Given the description of an element on the screen output the (x, y) to click on. 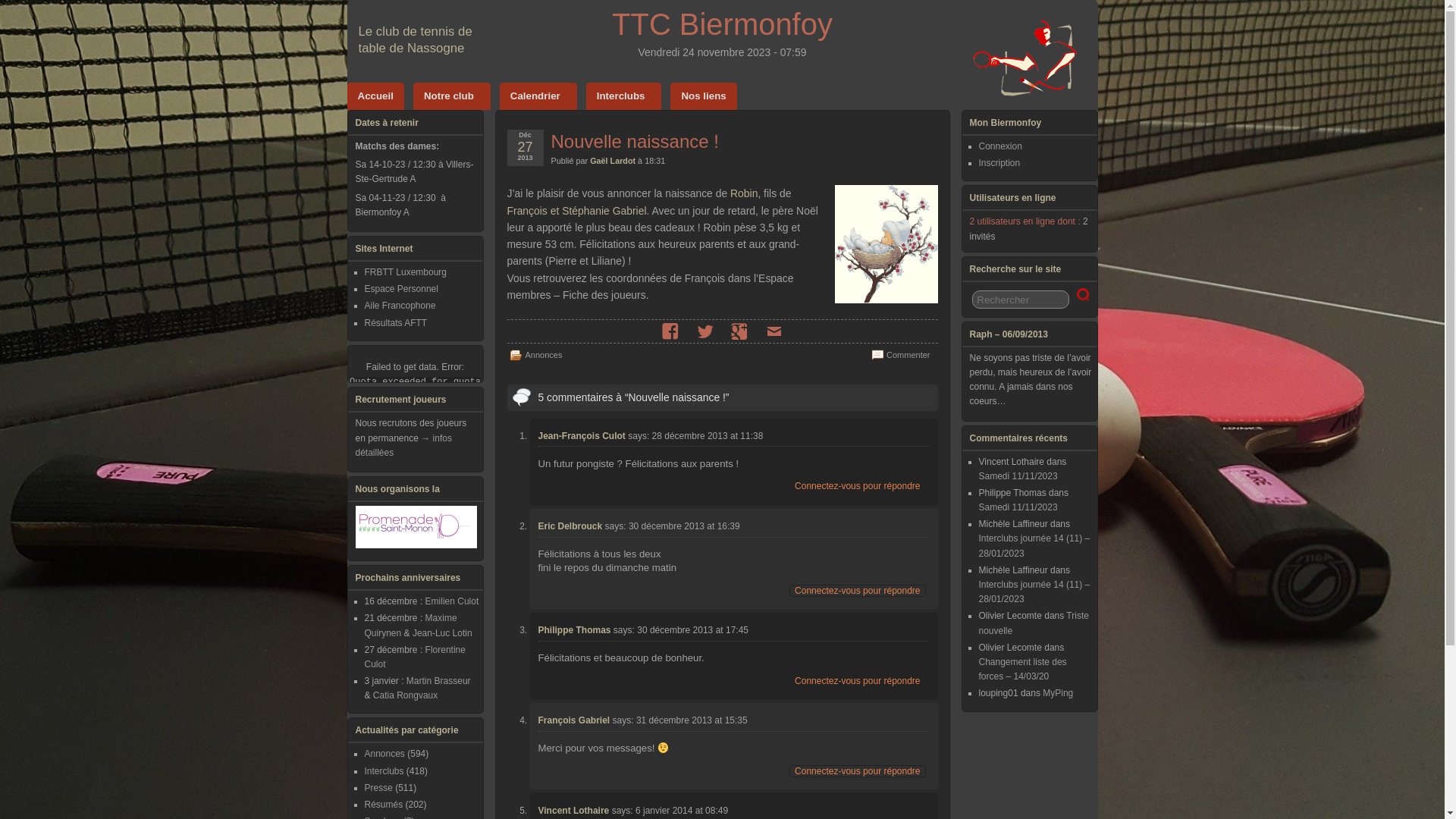
Notre club Element type: text (451, 95)
Annonces Element type: text (542, 354)
Florentine Culot Element type: text (414, 656)
Aile Francophone Element type: text (399, 305)
Espace Personnel Element type: text (400, 288)
6 janvier 2014 at 08:49 Element type: text (681, 810)
Samedi 11/11/2023 Element type: text (1017, 475)
Connexion Element type: text (999, 146)
Interclubs Element type: text (383, 770)
TTC Biermonfoy Element type: text (721, 23)
Nos liens Element type: text (703, 95)
Presse Element type: text (378, 787)
Commenter Element type: text (907, 354)
Annonces Element type: text (384, 753)
Samedi 11/11/2023 Element type: text (1017, 507)
FRBTT Luxembourg Element type: text (405, 271)
Emilien Culot Element type: text (452, 601)
MyPing Element type: text (1057, 692)
Accueil Element type: text (375, 95)
Interclubs Element type: text (624, 95)
Triste nouvelle Element type: text (1033, 622)
Inscription Element type: text (998, 162)
Maxime Quirynen Element type: text (410, 624)
Catia Rongvaux Element type: text (405, 695)
Calendrier Element type: text (538, 95)
Martin Brasseur Element type: text (438, 680)
Nouvelle naissance ! Element type: text (634, 141)
Jean-Luc Lotin Element type: text (442, 632)
